Given the description of an element on the screen output the (x, y) to click on. 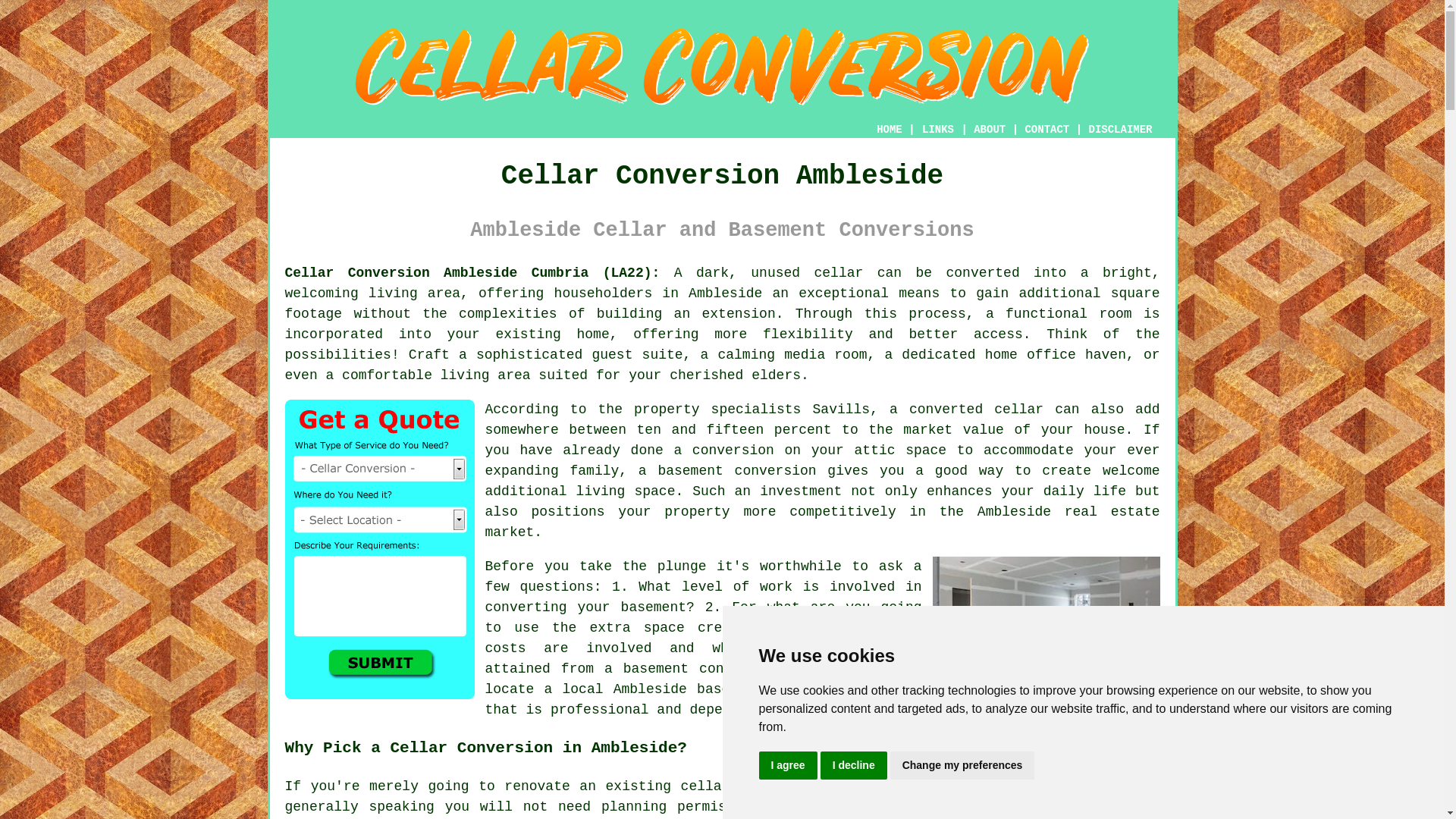
LINKS (938, 129)
I agree (787, 765)
I decline (853, 765)
Change my preferences (962, 765)
cellar (705, 785)
cellar (838, 272)
Free Ambleside Cellar Conversion Quotes (379, 549)
HOME (889, 129)
basement conversion (736, 470)
Cellar Conversion Ambleside (722, 66)
